Given the description of an element on the screen output the (x, y) to click on. 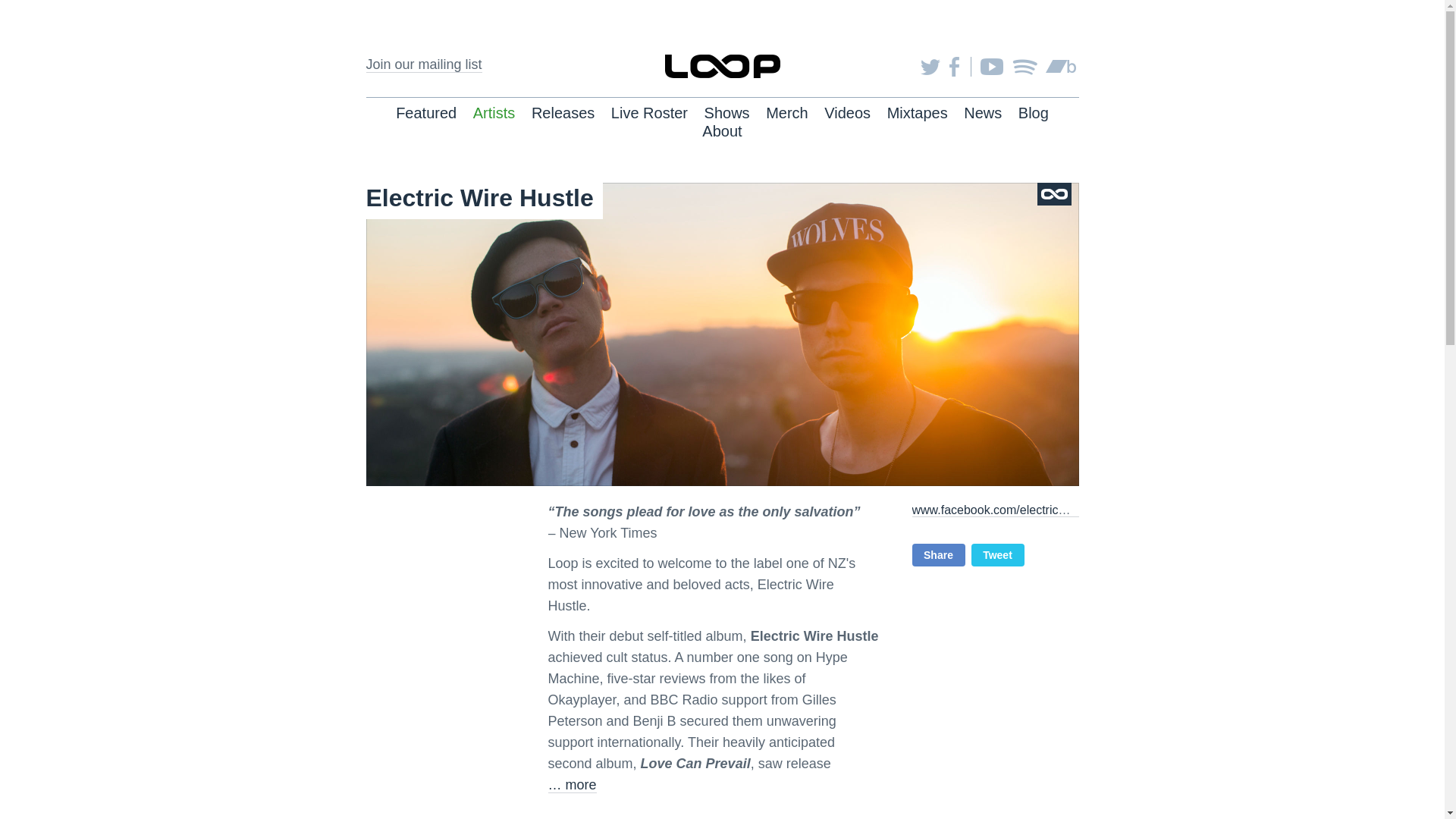
Tweet about this on Twitter (997, 554)
Spotify (1023, 66)
Bandcamp (1060, 66)
Tweet (997, 554)
Twitter (930, 66)
Blog (1032, 112)
Share (937, 554)
YouTube (991, 66)
Bandcamp (1060, 66)
Videos (847, 112)
Spotify (1023, 66)
Live Roster (649, 112)
News (982, 112)
Mixtapes (916, 112)
Shows (726, 112)
